Given the description of an element on the screen output the (x, y) to click on. 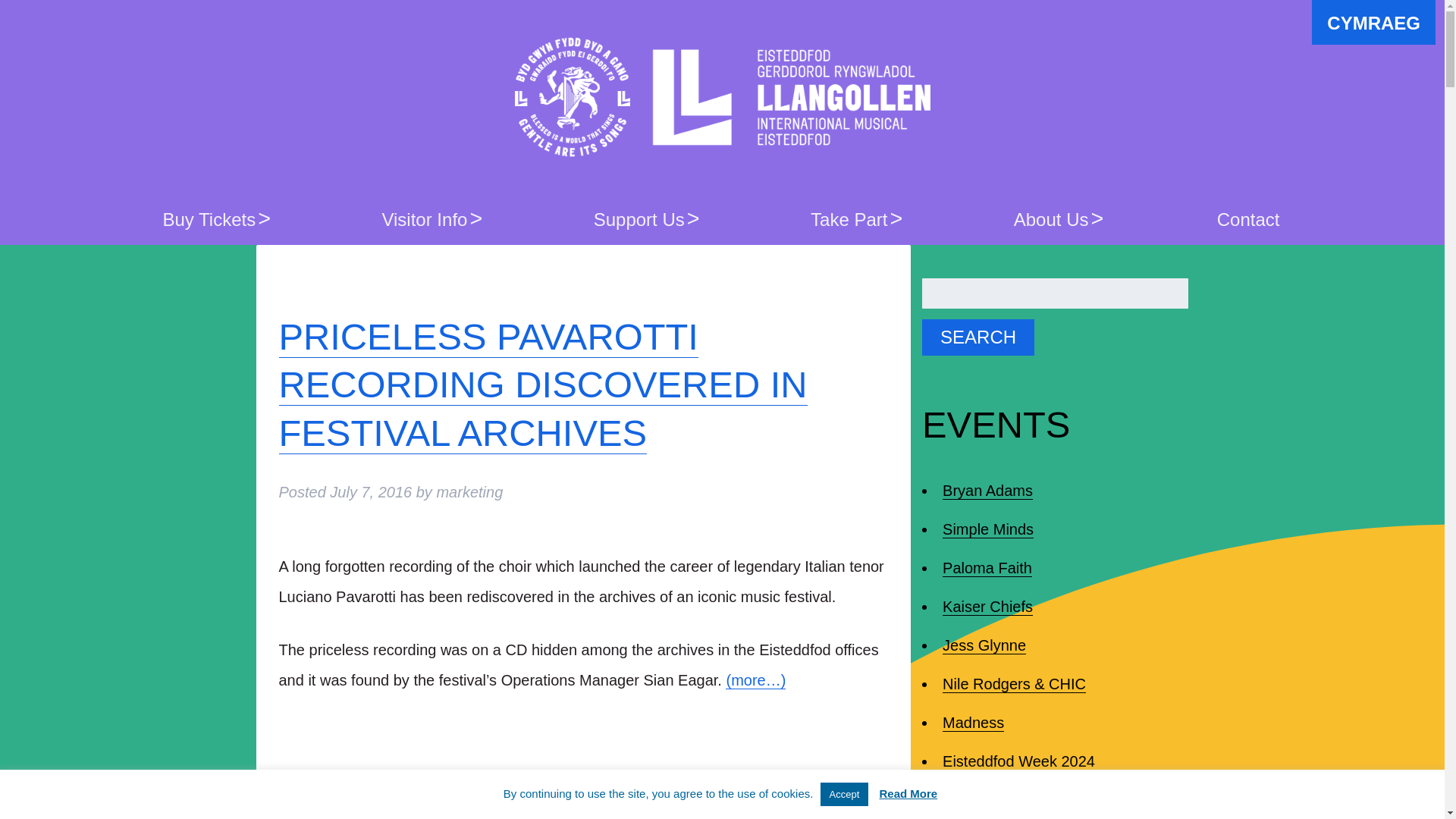
Contact (1248, 219)
Featured (388, 804)
Support Us (640, 219)
Music (445, 804)
News (494, 804)
Visitor Info (426, 219)
Search (977, 337)
CYMRAEG (1373, 22)
